Given the description of an element on the screen output the (x, y) to click on. 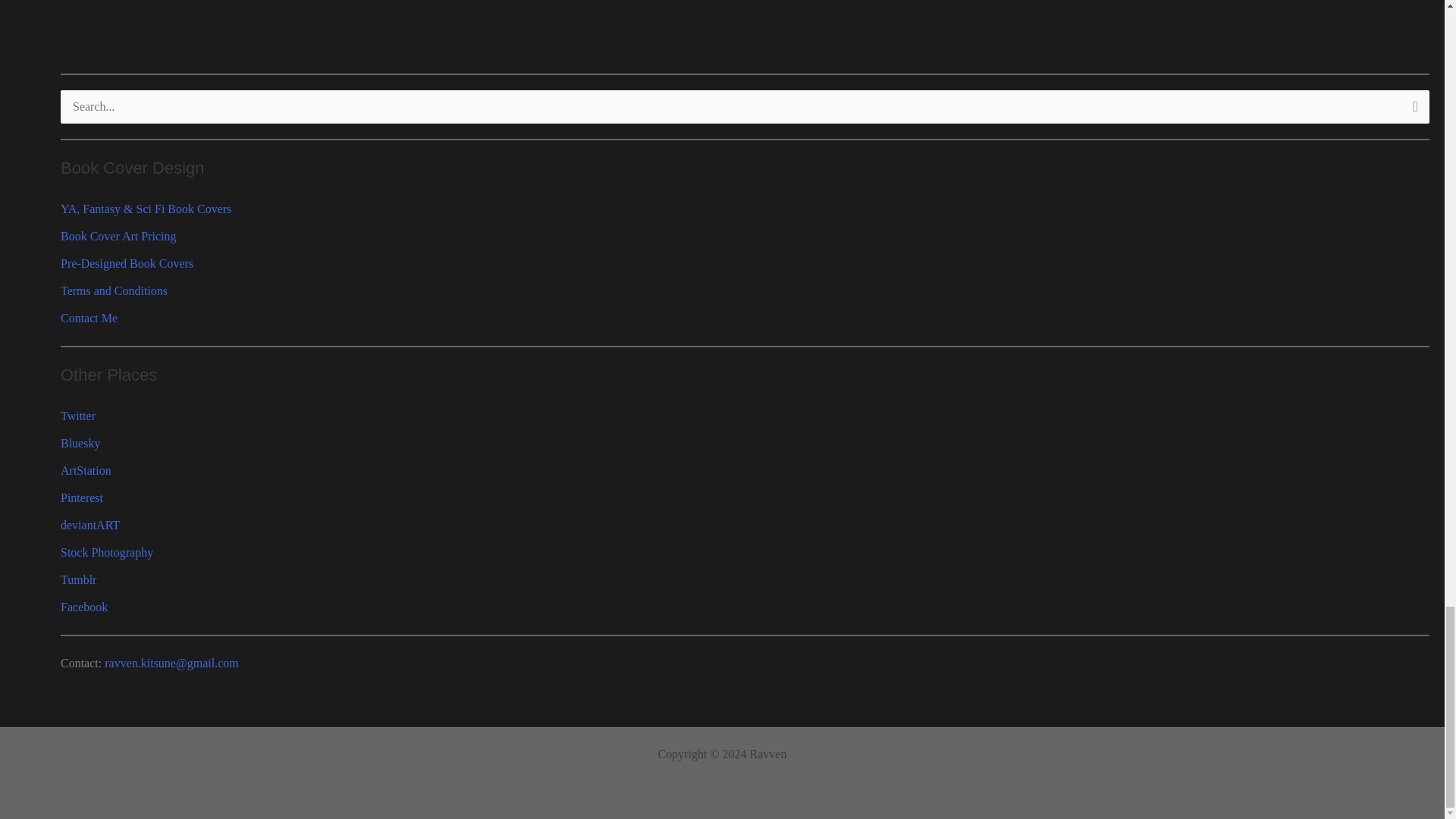
Search (1411, 111)
Search (1411, 111)
